Given the description of an element on the screen output the (x, y) to click on. 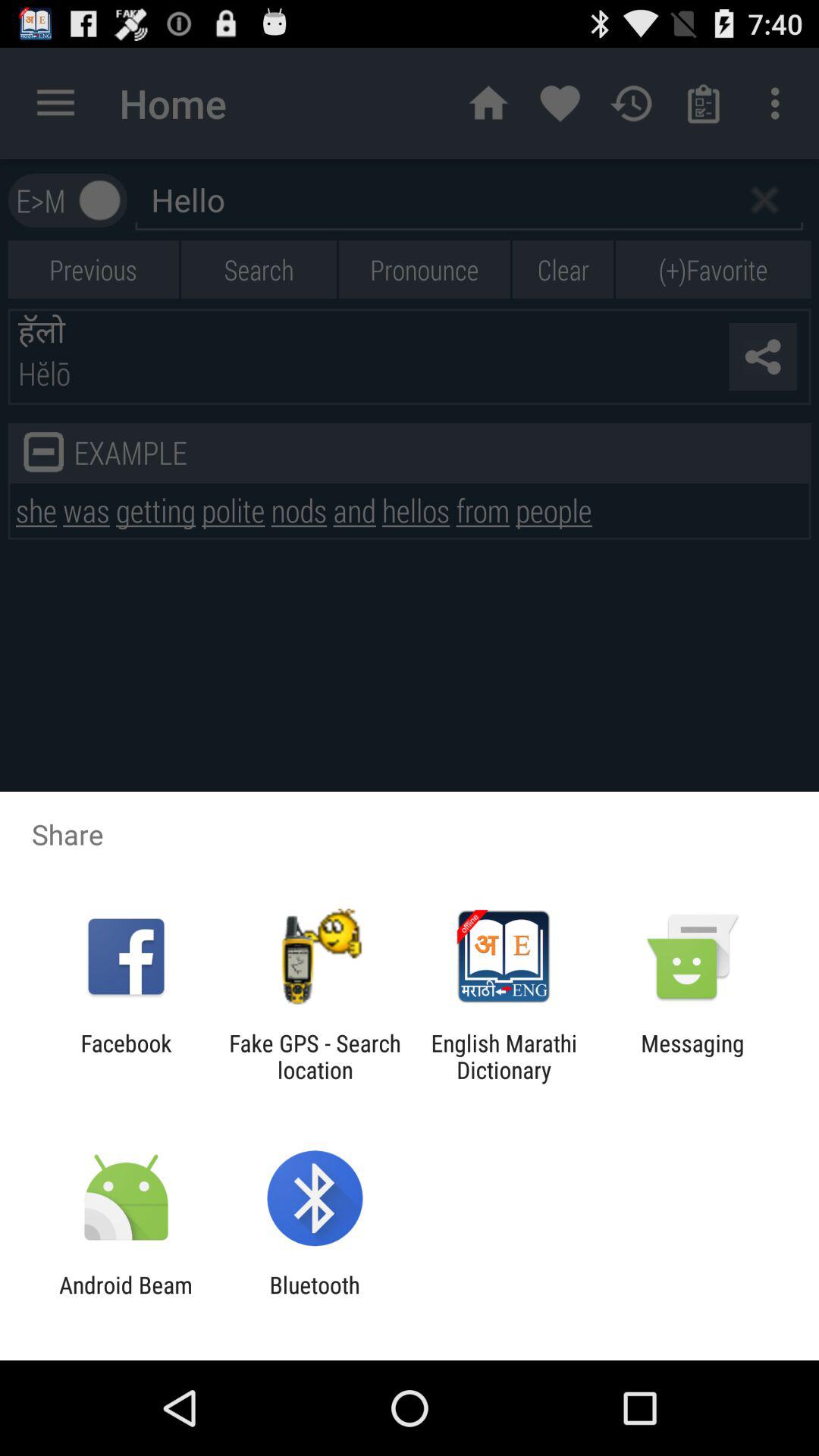
tap the item next to the fake gps search app (503, 1056)
